Given the description of an element on the screen output the (x, y) to click on. 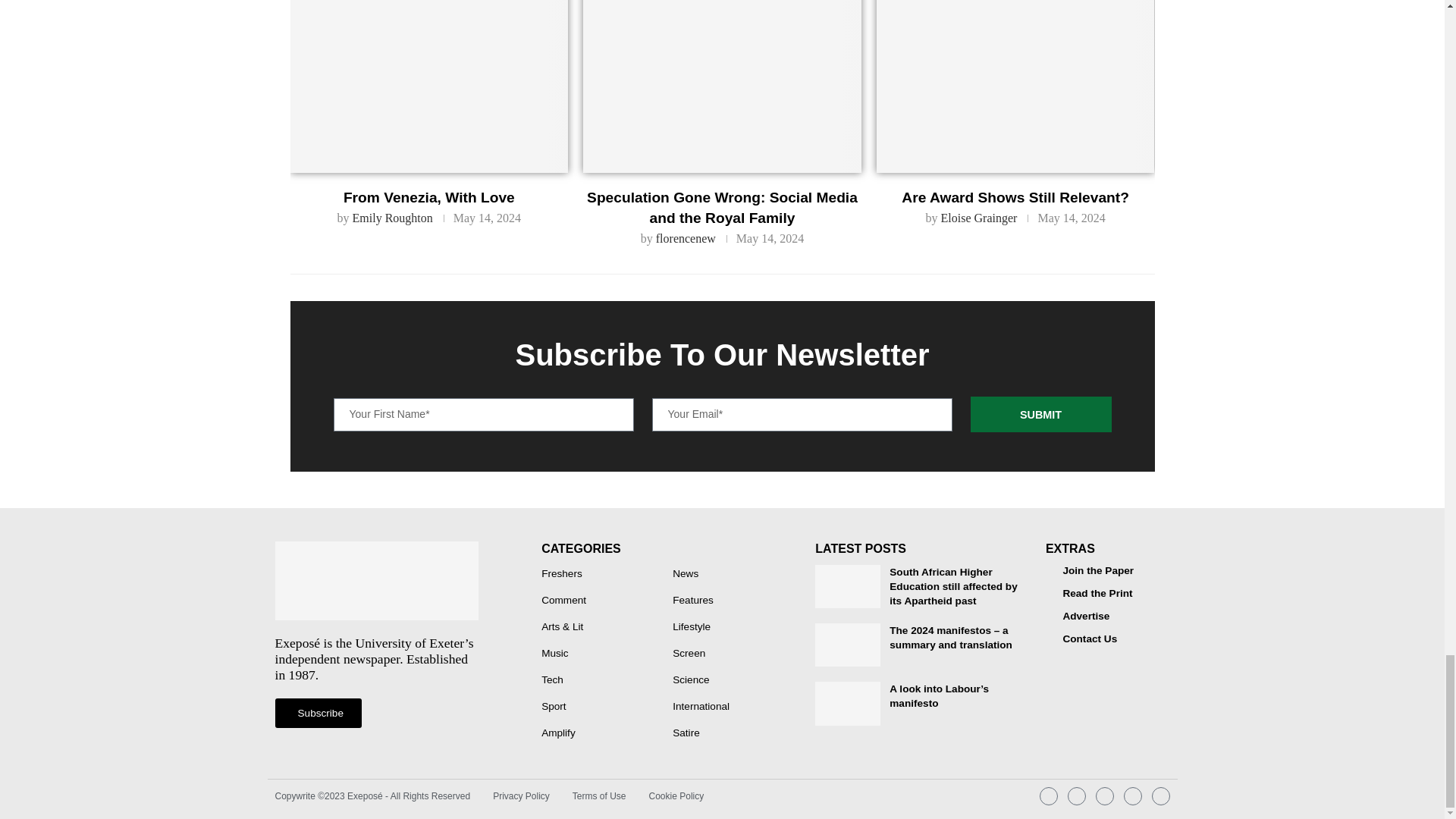
Eloise Grainger (978, 217)
florencenew (686, 237)
Speculation Gone Wrong: Social Media and the Royal Family (722, 86)
Emily Roughton (392, 217)
Are Award Shows Still Relevant? (1015, 86)
From Venezia, With Love (428, 86)
